Given the description of an element on the screen output the (x, y) to click on. 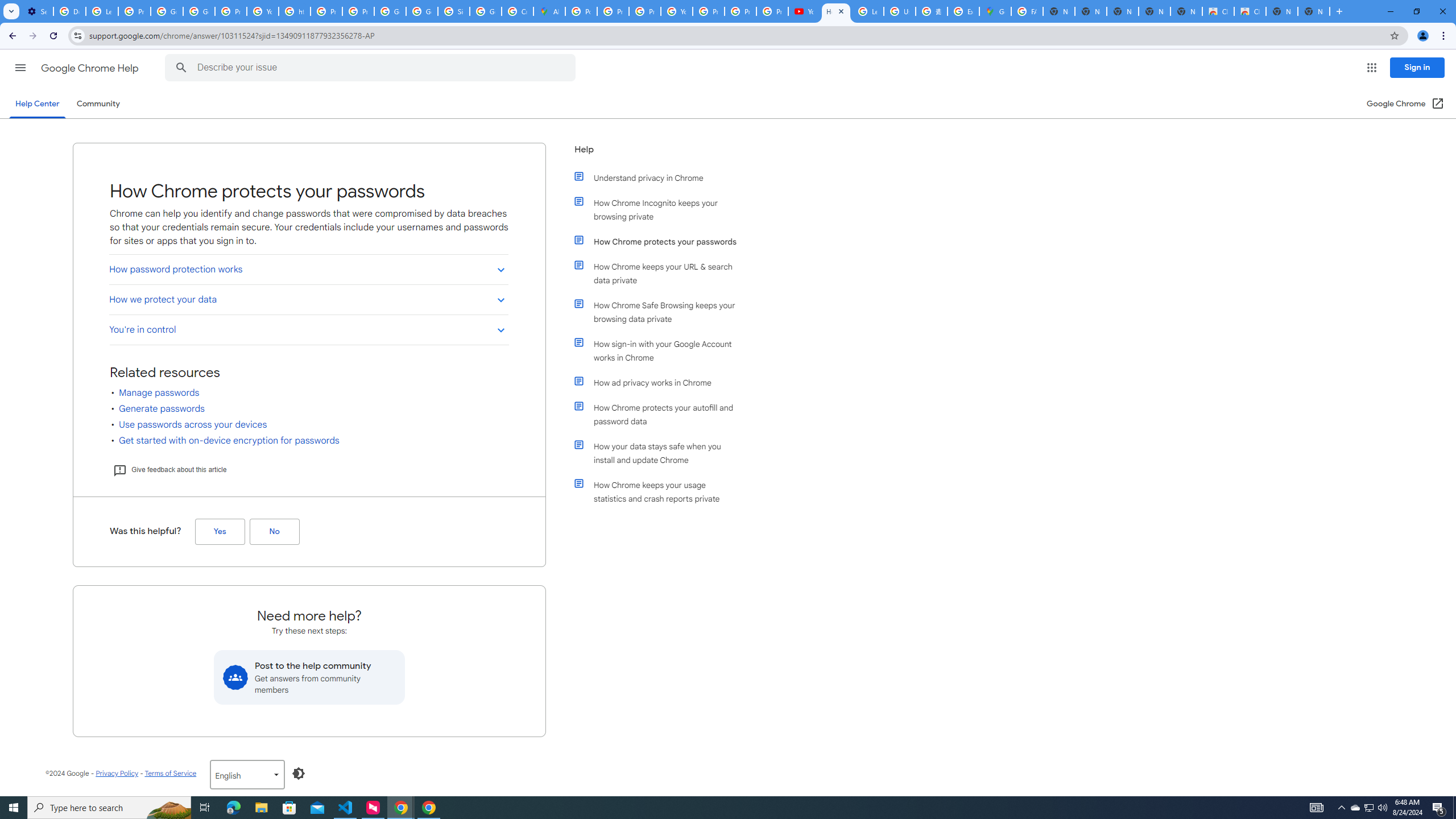
Privacy Help Center - Policies Help (644, 11)
How password protection works (308, 268)
Explore new street-level details - Google Maps Help (963, 11)
How Chrome keeps your URL & search data private (661, 273)
How Chrome Incognito keeps your browsing private (661, 209)
How sign-in with your Google Account works in Chrome (661, 350)
Policy Accountability and Transparency - Transparency Center (581, 11)
